Given the description of an element on the screen output the (x, y) to click on. 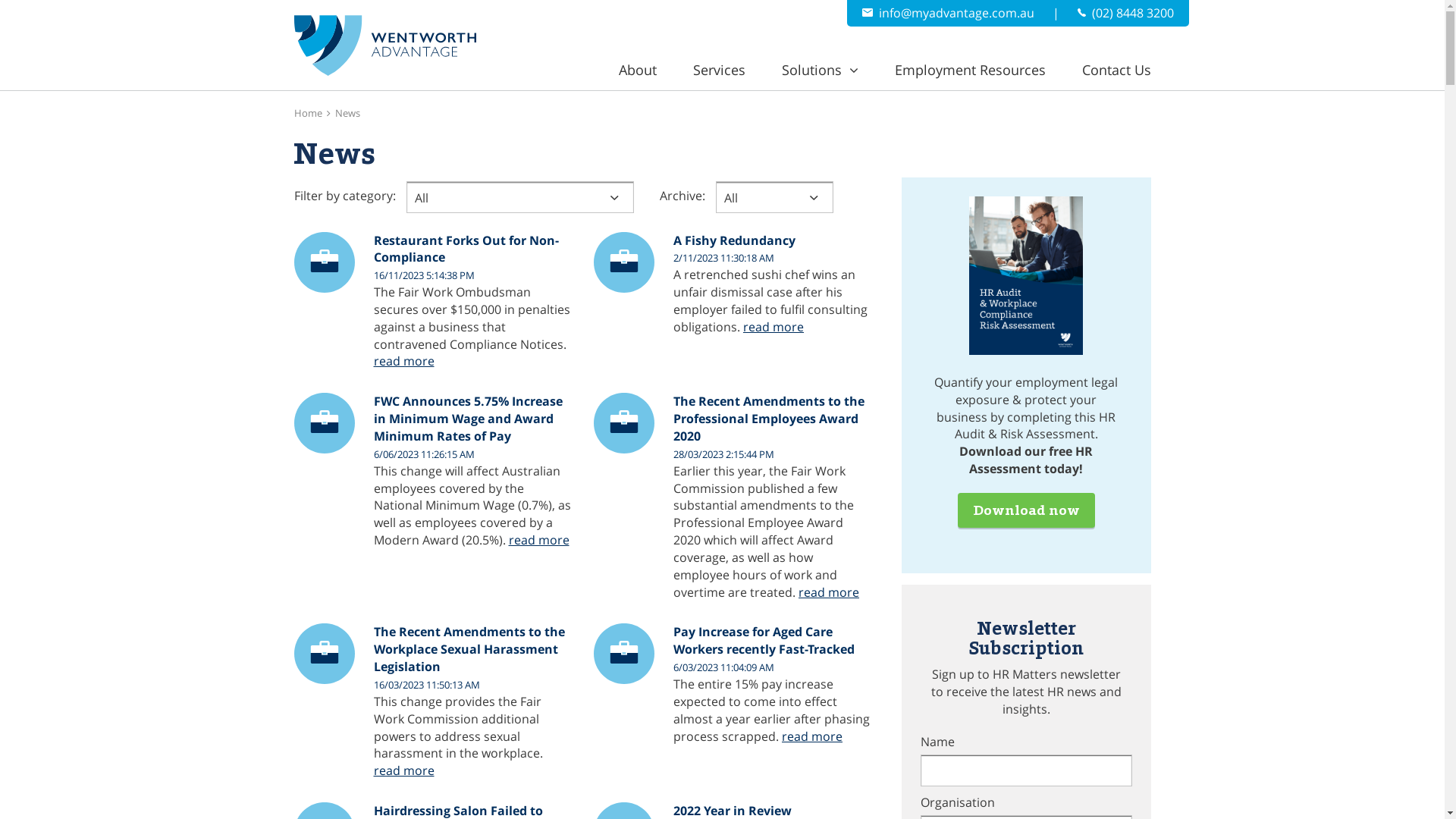
read more Element type: text (403, 770)
(02) 8448 3200 Element type: text (1124, 12)
Download now Element type: text (1025, 509)
Solutions Element type: text (819, 69)
info@myadvantage.com.au Element type: text (947, 12)
read more Element type: text (403, 361)
Services Element type: text (719, 69)
Contact Us Element type: text (1115, 69)
Restaurant Forks Out for Non-Compliance Element type: text (472, 249)
read more Element type: text (773, 326)
Employment Resources Element type: text (969, 69)
Pay Increase for Aged Care Workers recently Fast-Tracked Element type: text (772, 640)
read more Element type: text (828, 592)
read more Element type: text (538, 540)
Home Element type: text (308, 112)
About Element type: text (637, 69)
read more Element type: text (811, 736)
A Fishy Redundancy Element type: text (772, 240)
